Given the description of an element on the screen output the (x, y) to click on. 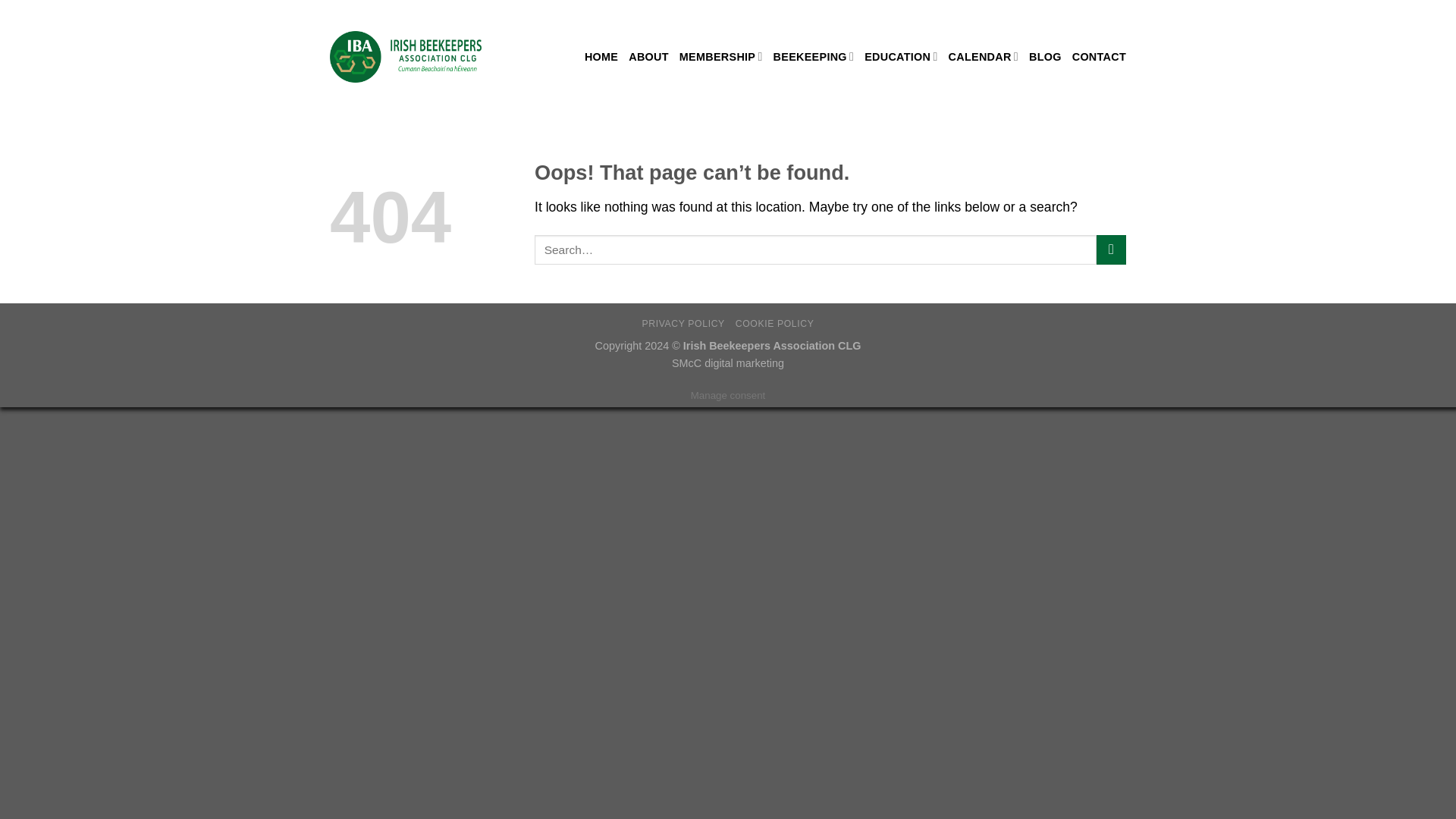
CALENDAR (983, 56)
BEEKEEPING (813, 56)
ABOUT (648, 56)
CONTACT (1098, 56)
BLOG (1045, 56)
PRIVACY POLICY (682, 323)
The IBAclg - The Irish Beekeepers' Association clg (405, 56)
MEMBERSHIP (720, 56)
SMcC digital marketing (727, 363)
HOME (601, 56)
EDUCATION (900, 56)
COOKIE POLICY (774, 323)
